Given the description of an element on the screen output the (x, y) to click on. 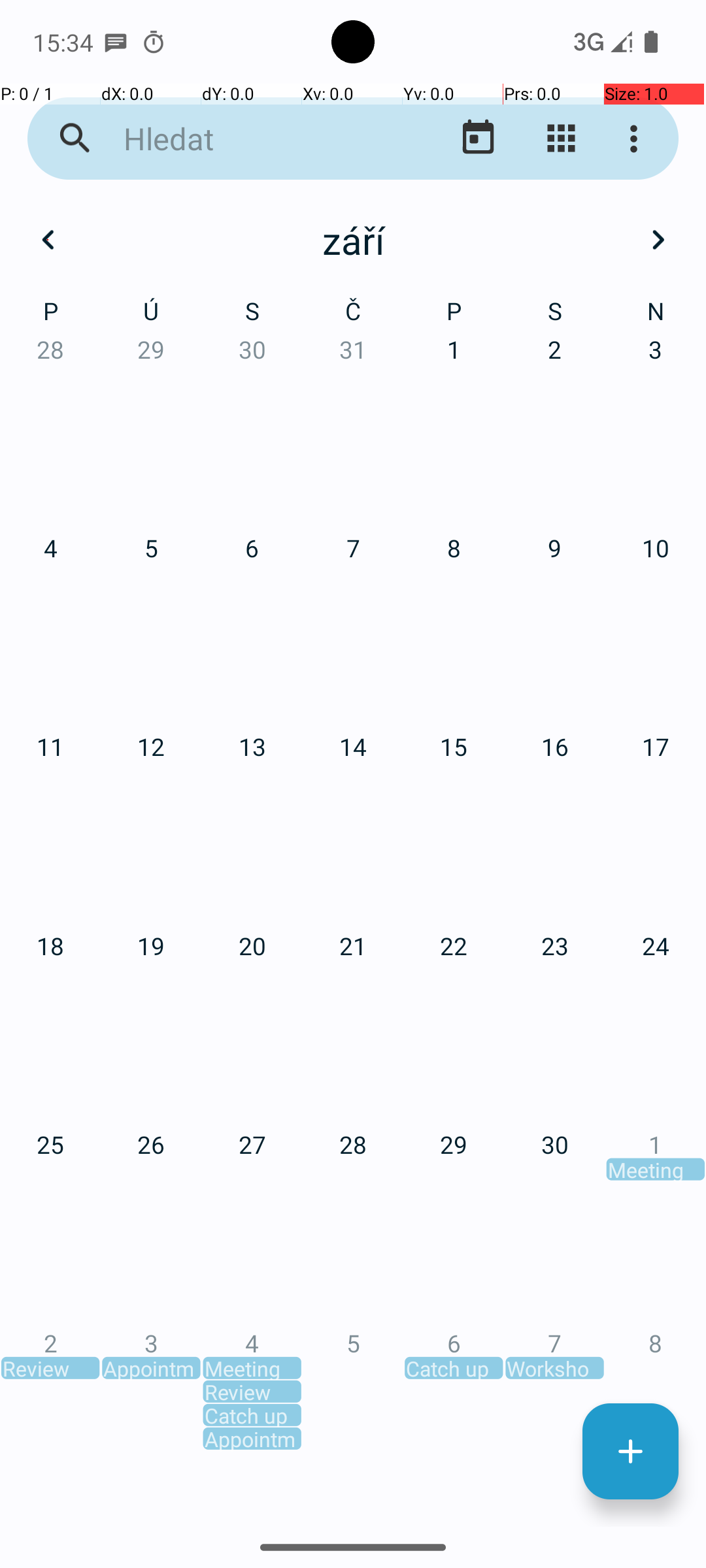
Přejít na dnešní datum Element type: android.widget.Button (477, 138)
září Element type: android.widget.TextView (352, 239)
